Given the description of an element on the screen output the (x, y) to click on. 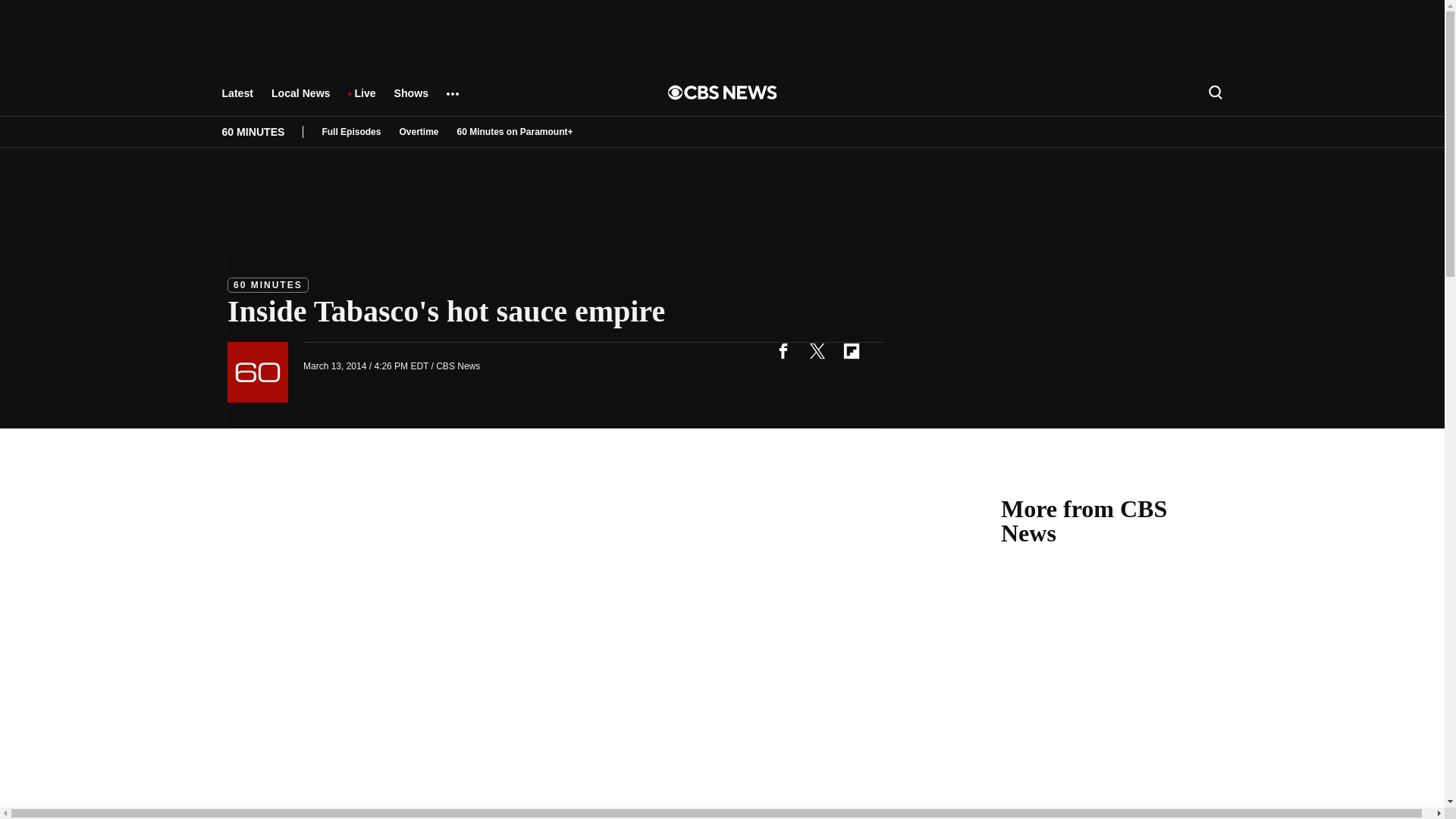
Latest (236, 100)
flipboard (850, 350)
Local News (300, 100)
facebook (782, 350)
twitter (816, 350)
